Given the description of an element on the screen output the (x, y) to click on. 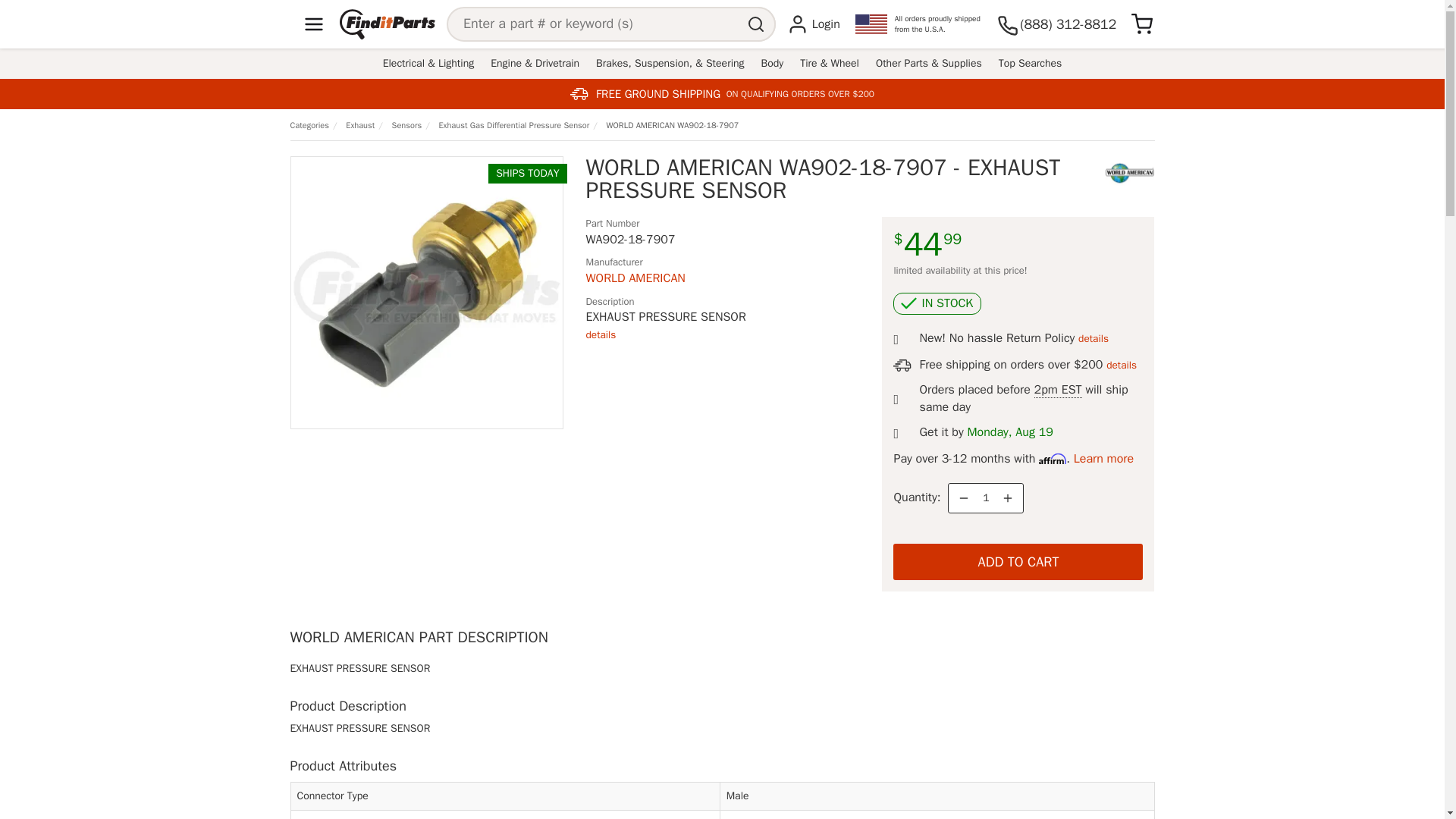
Add to Cart (1017, 561)
Login (813, 24)
View WORLD AMERICAN Truck and Auto Parts List (634, 278)
Search (757, 23)
Body (772, 63)
Search (757, 23)
Search (757, 23)
1 (985, 498)
Top Searches (1030, 63)
